Given the description of an element on the screen output the (x, y) to click on. 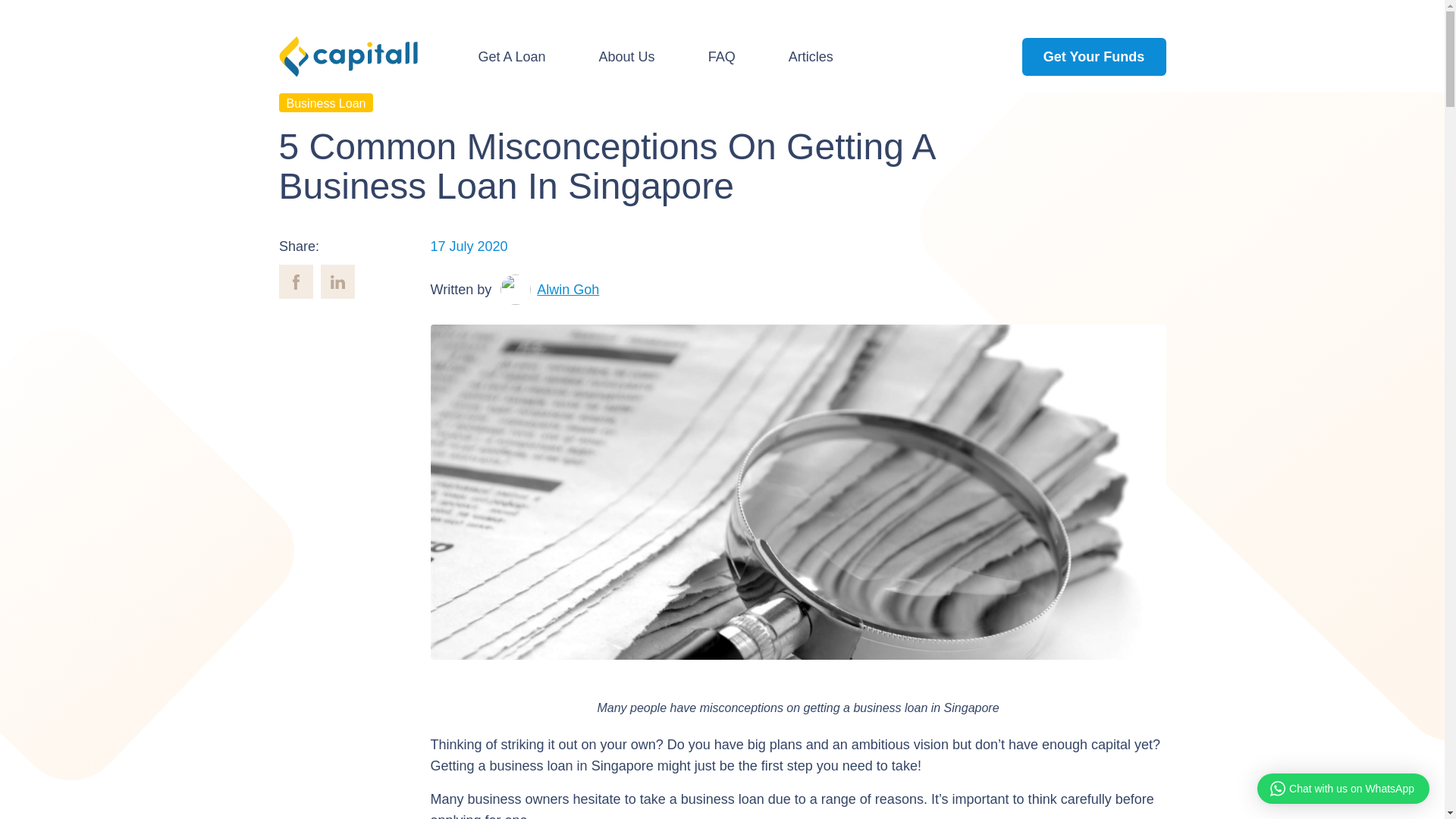
About Us (627, 56)
Alwin Goh (567, 289)
Get Your Funds (1094, 56)
Articles (810, 56)
FAQ (721, 56)
Get A Loan (512, 56)
